Given the description of an element on the screen output the (x, y) to click on. 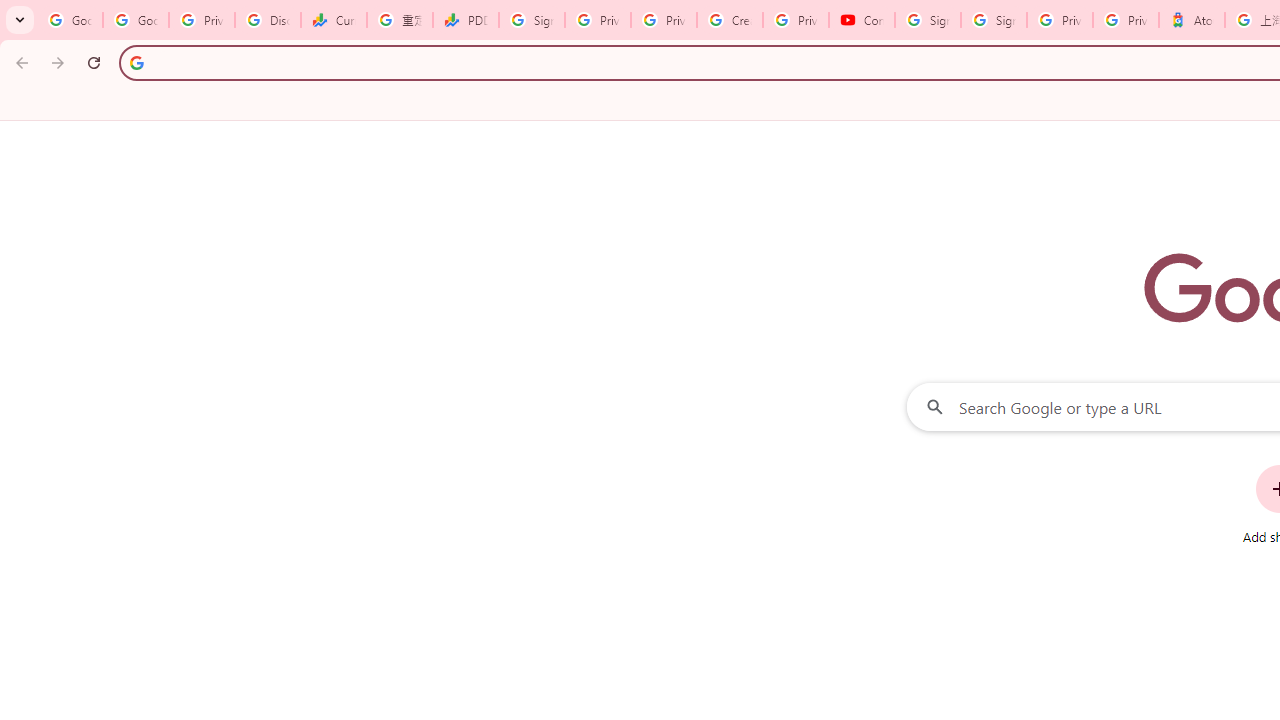
Privacy Checkup (664, 20)
Google Workspace Admin Community (70, 20)
Search icon (136, 62)
Sign in - Google Accounts (531, 20)
Sign in - Google Accounts (927, 20)
